Given the description of an element on the screen output the (x, y) to click on. 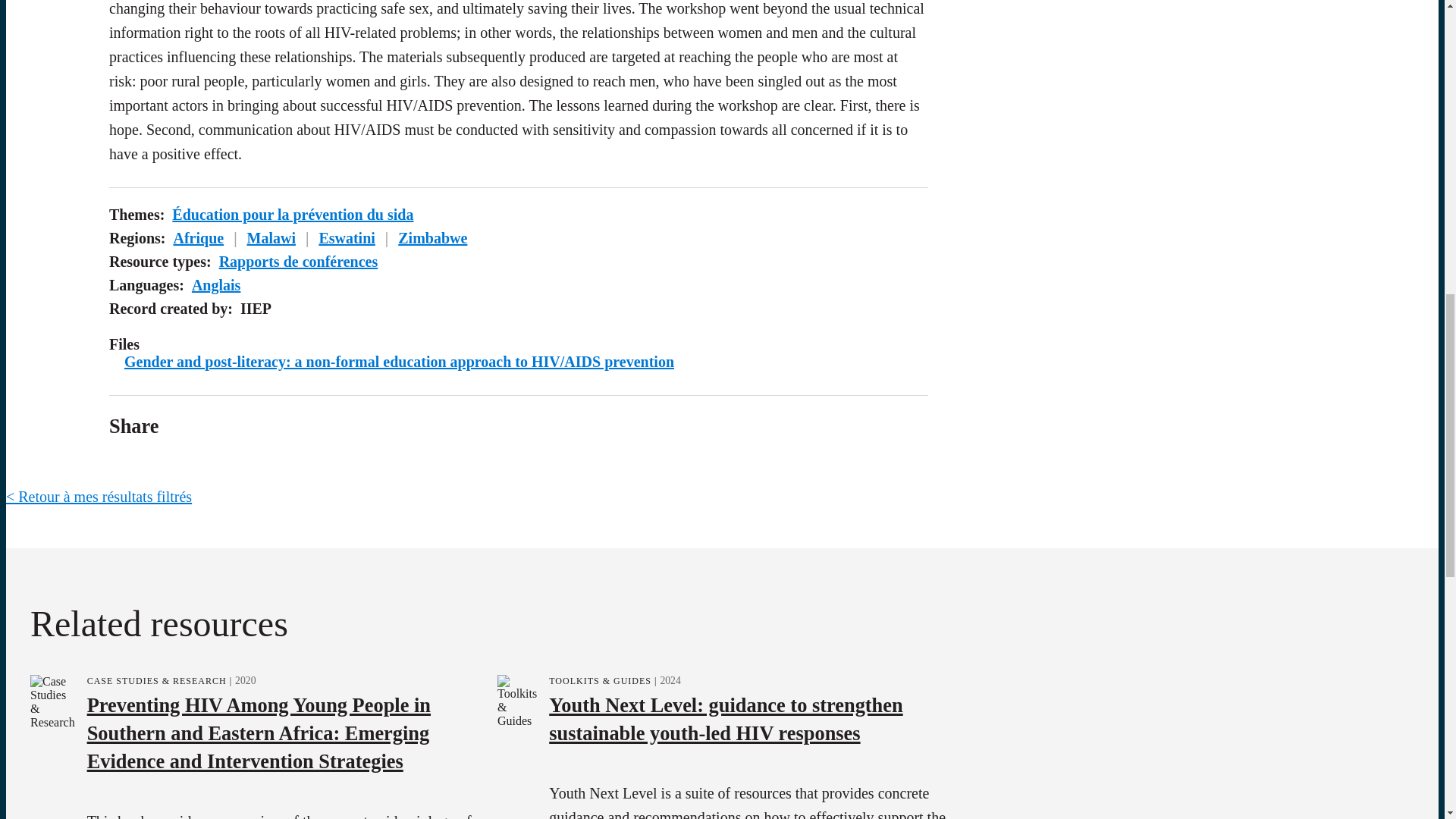
Malawi (271, 238)
Anglais (216, 284)
Zimbabwe (432, 238)
Eswatini (346, 238)
124261e.pdf (398, 361)
Afrique (198, 238)
